Given the description of an element on the screen output the (x, y) to click on. 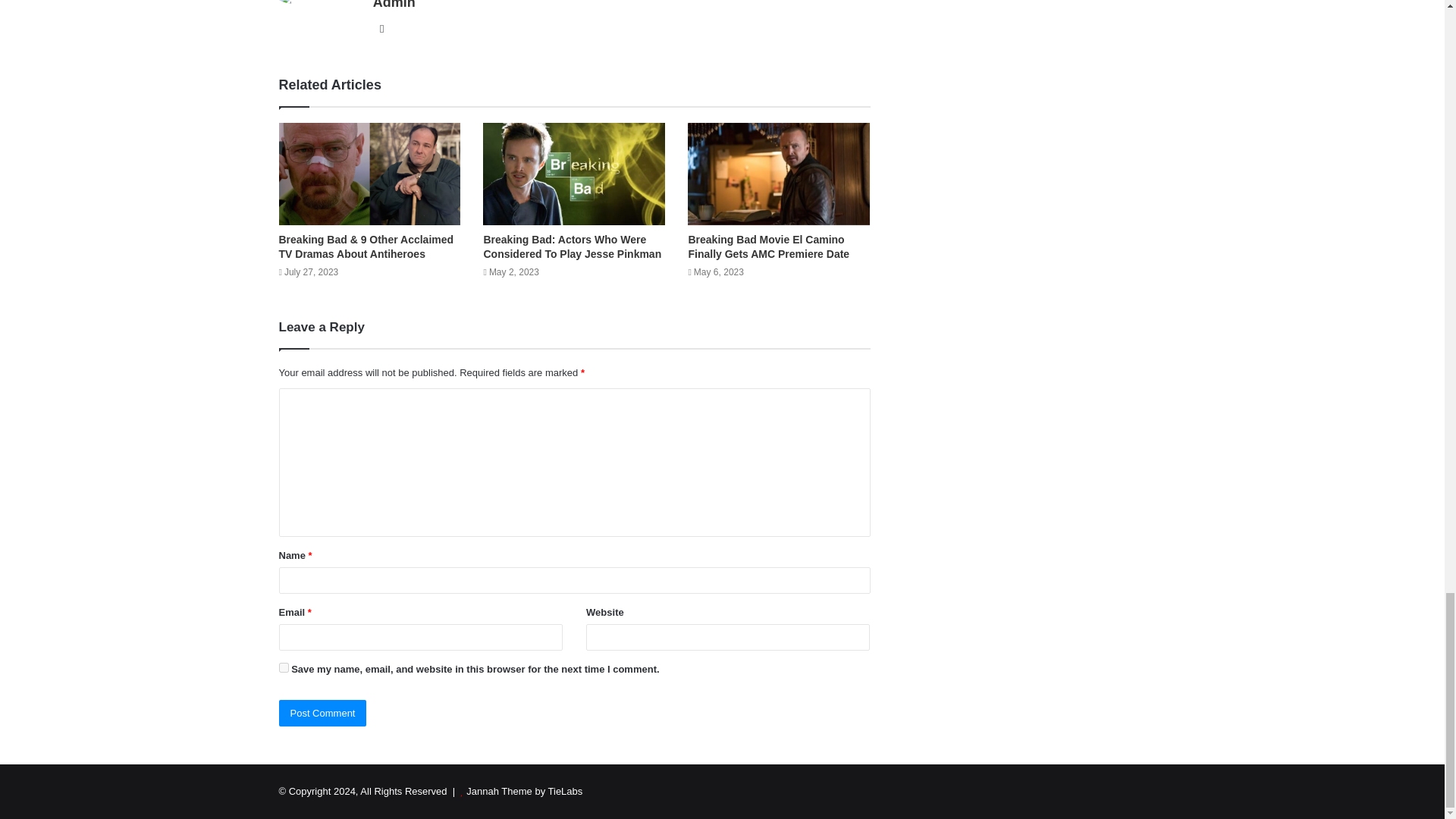
Breaking Bad Movie El Camino Finally Gets AMC Premiere Date (767, 246)
Post Comment (322, 713)
Website (381, 28)
Admin (393, 4)
Post Comment (322, 713)
yes (283, 667)
